Given the description of an element on the screen output the (x, y) to click on. 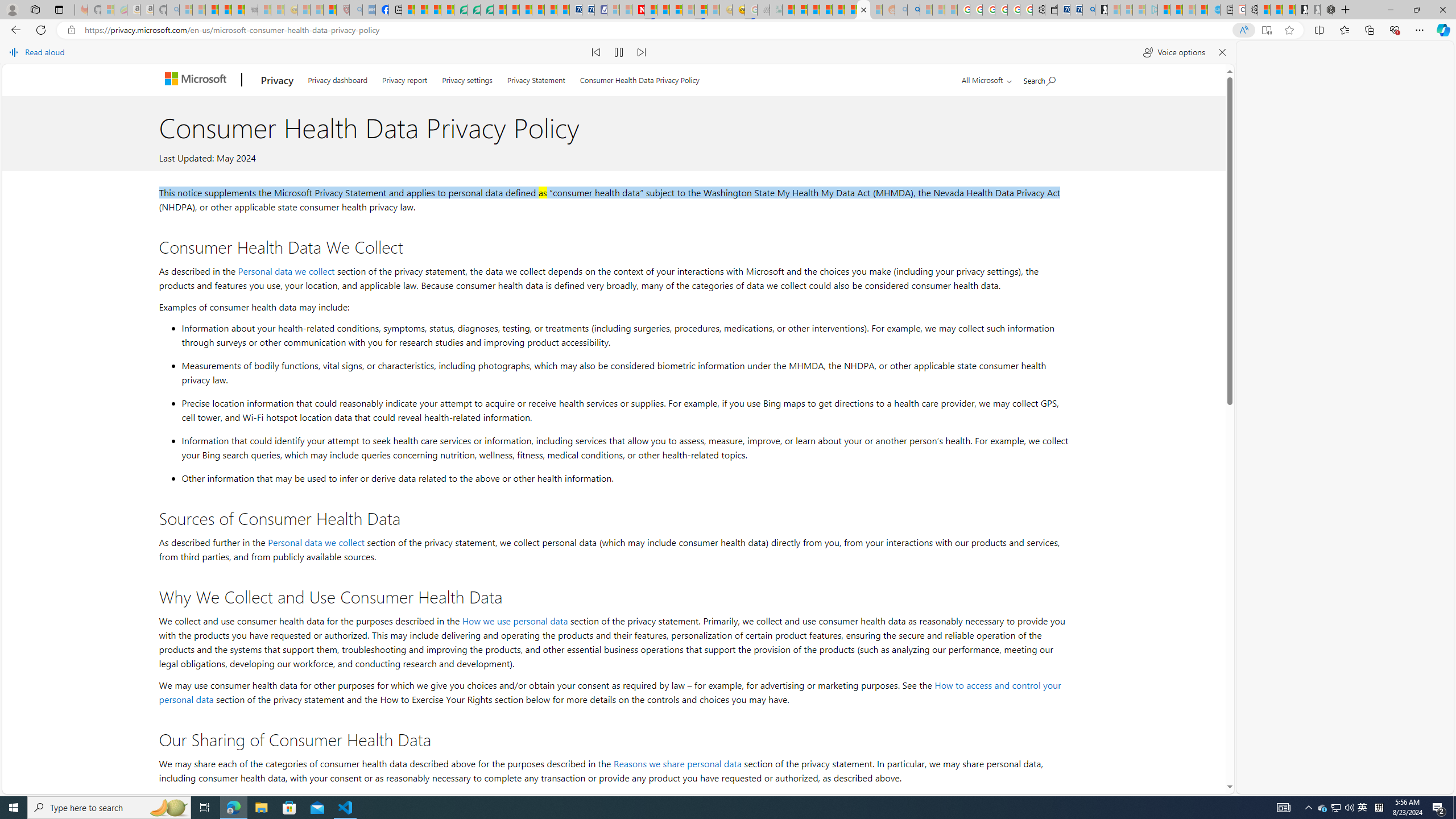
NCL Adult Asthma Inhaler Choice Guideline - Sleeping (369, 9)
LendingTree - Compare Lenders (460, 9)
14 Common Myths Debunked By Scientific Facts (663, 9)
How we use personal data (514, 620)
Privacy settings (466, 77)
Read previous paragraph (596, 52)
Consumer Health Data Privacy Policy (639, 77)
Student Loan Update: Forgiveness Program Ends This Month (826, 9)
